Given the description of an element on the screen output the (x, y) to click on. 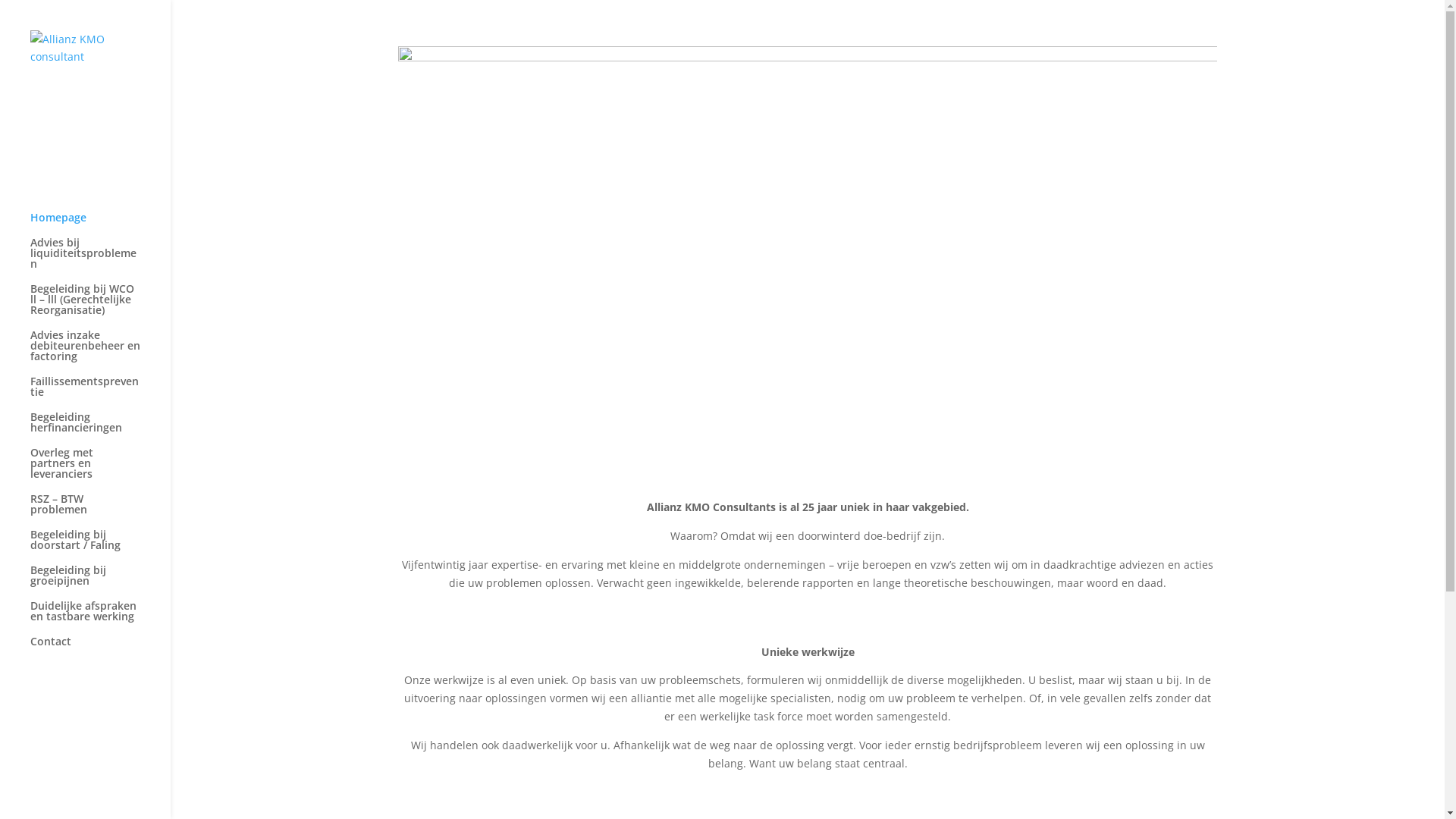
Begeleiding herfinancieringen Element type: text (100, 429)
Duidelijke afspraken en tastbare werking Element type: text (100, 618)
Advies bij liquiditeitsproblemen Element type: text (100, 260)
Faillissementspreventie Element type: text (100, 393)
Begeleiding bij groeipijnen Element type: text (100, 582)
ALLIANZ_2022_Series_Raats_Global4 Element type: hover (807, 261)
Contact Element type: text (100, 648)
Advies inzake debiteurenbeheer en factoring Element type: text (100, 352)
Begeleiding bij doorstart / Faling Element type: text (100, 546)
Homepage Element type: text (100, 224)
Overleg met partners en leveranciers Element type: text (100, 470)
